Given the description of an element on the screen output the (x, y) to click on. 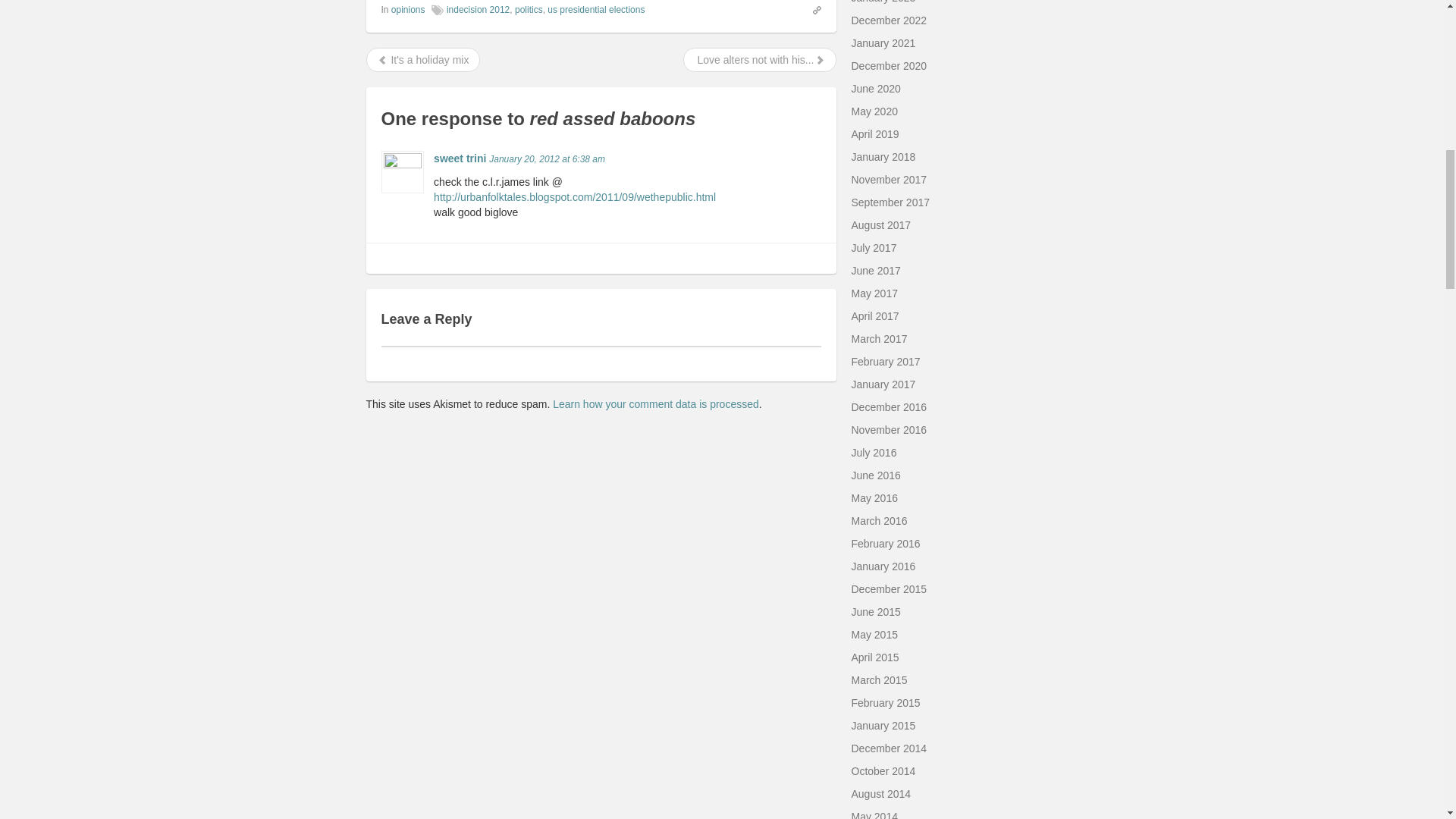
indecision 2012 (477, 9)
us presidential elections (596, 9)
politics (529, 9)
 Love alters not with his... (759, 60)
opinions (408, 9)
 It's a holiday mix (422, 60)
January 20, 2012 at 6:38 am (547, 158)
sweet trini (459, 158)
Learn how your comment data is processed (655, 404)
Permalink (547, 158)
permalink (811, 8)
